Given the description of an element on the screen output the (x, y) to click on. 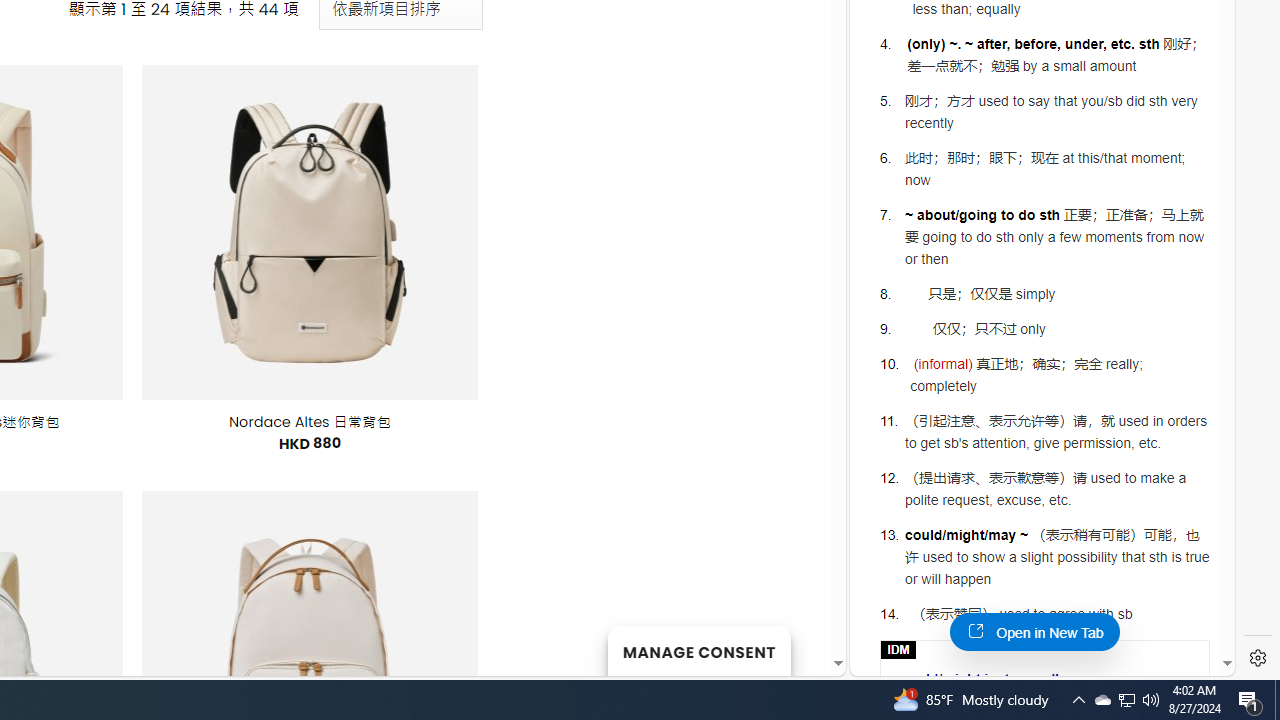
MANAGE CONSENT (698, 650)
